Given the description of an element on the screen output the (x, y) to click on. 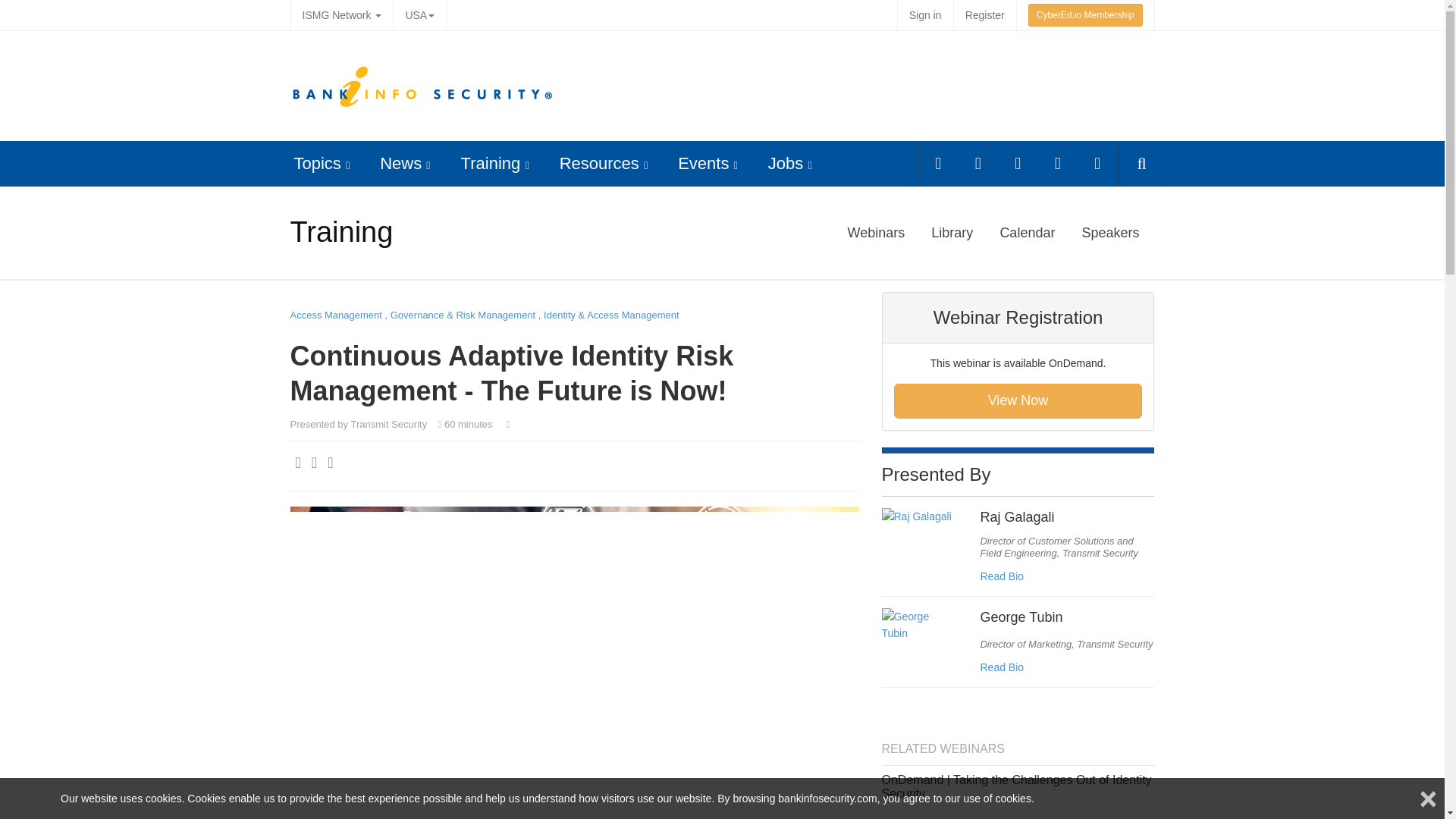
ISMG Network (341, 15)
USA (418, 15)
Register (984, 15)
Topics (317, 162)
CyberEd.io Membership (1084, 15)
Sign in (925, 15)
